Given the description of an element on the screen output the (x, y) to click on. 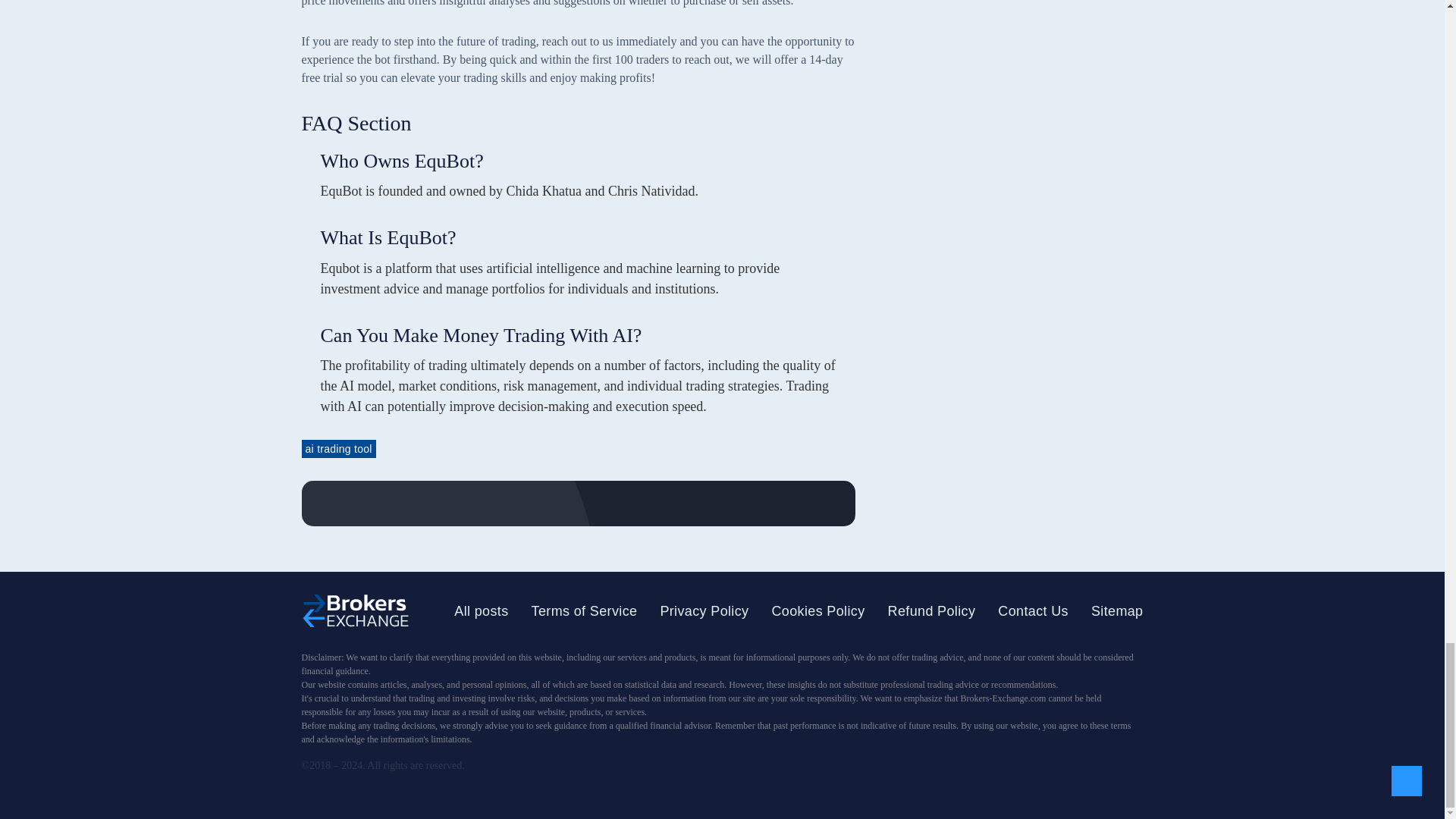
ai trading tool (338, 448)
